Given the description of an element on the screen output the (x, y) to click on. 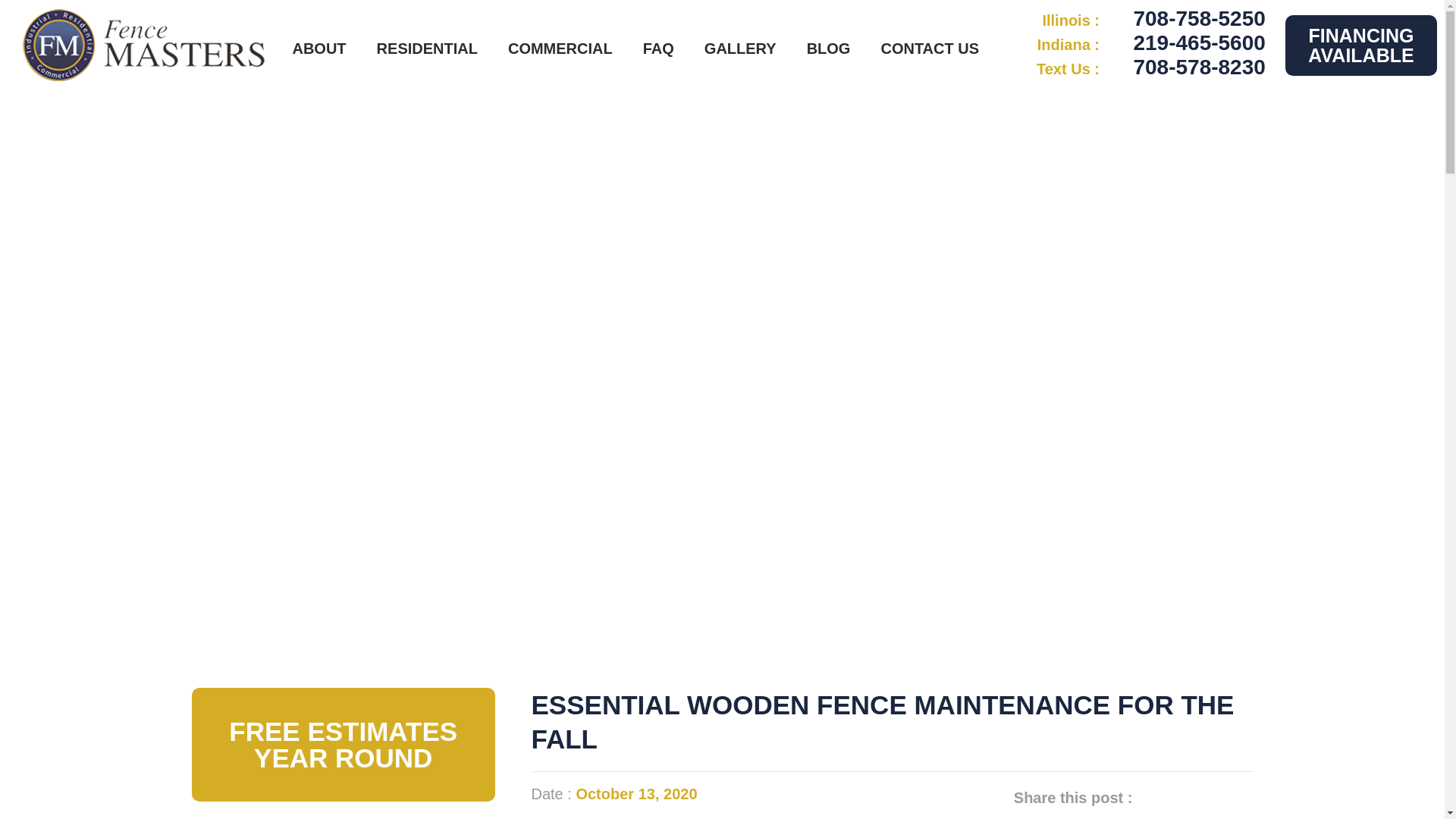
Go to the Fence Maintenance category archives. (572, 410)
COMMERCIAL (560, 47)
Go to Blog. (457, 410)
Go to Fence Masters. (398, 410)
FAQ (658, 47)
ABOUT (319, 47)
GALLERY (740, 47)
BLOG (828, 47)
RESIDENTIAL (427, 47)
